Given the description of an element on the screen output the (x, y) to click on. 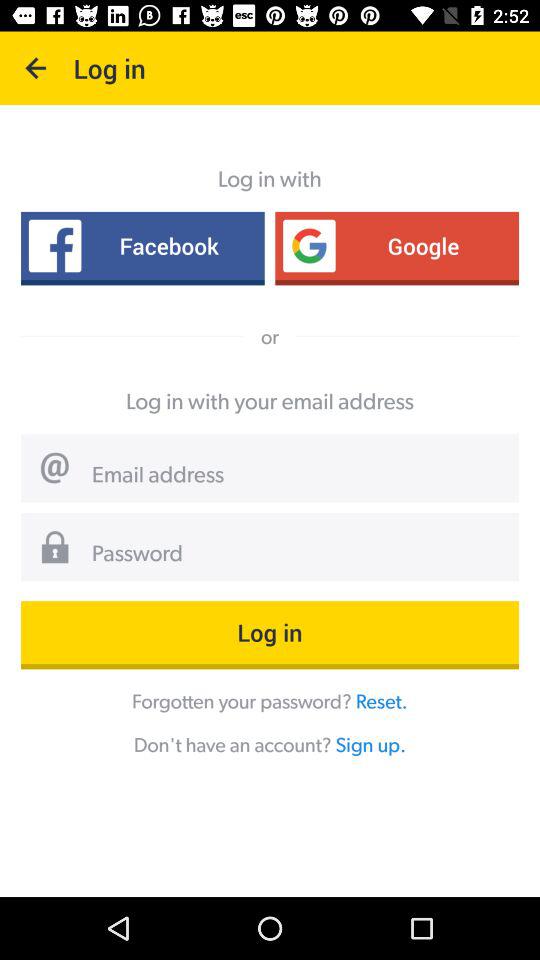
open item to the left of log in (36, 68)
